Given the description of an element on the screen output the (x, y) to click on. 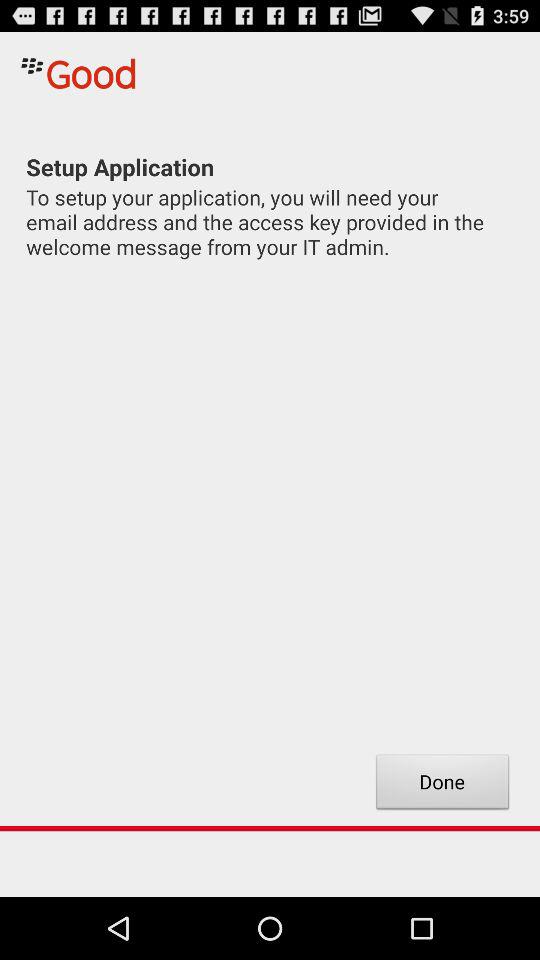
turn on item at the bottom right corner (442, 784)
